Given the description of an element on the screen output the (x, y) to click on. 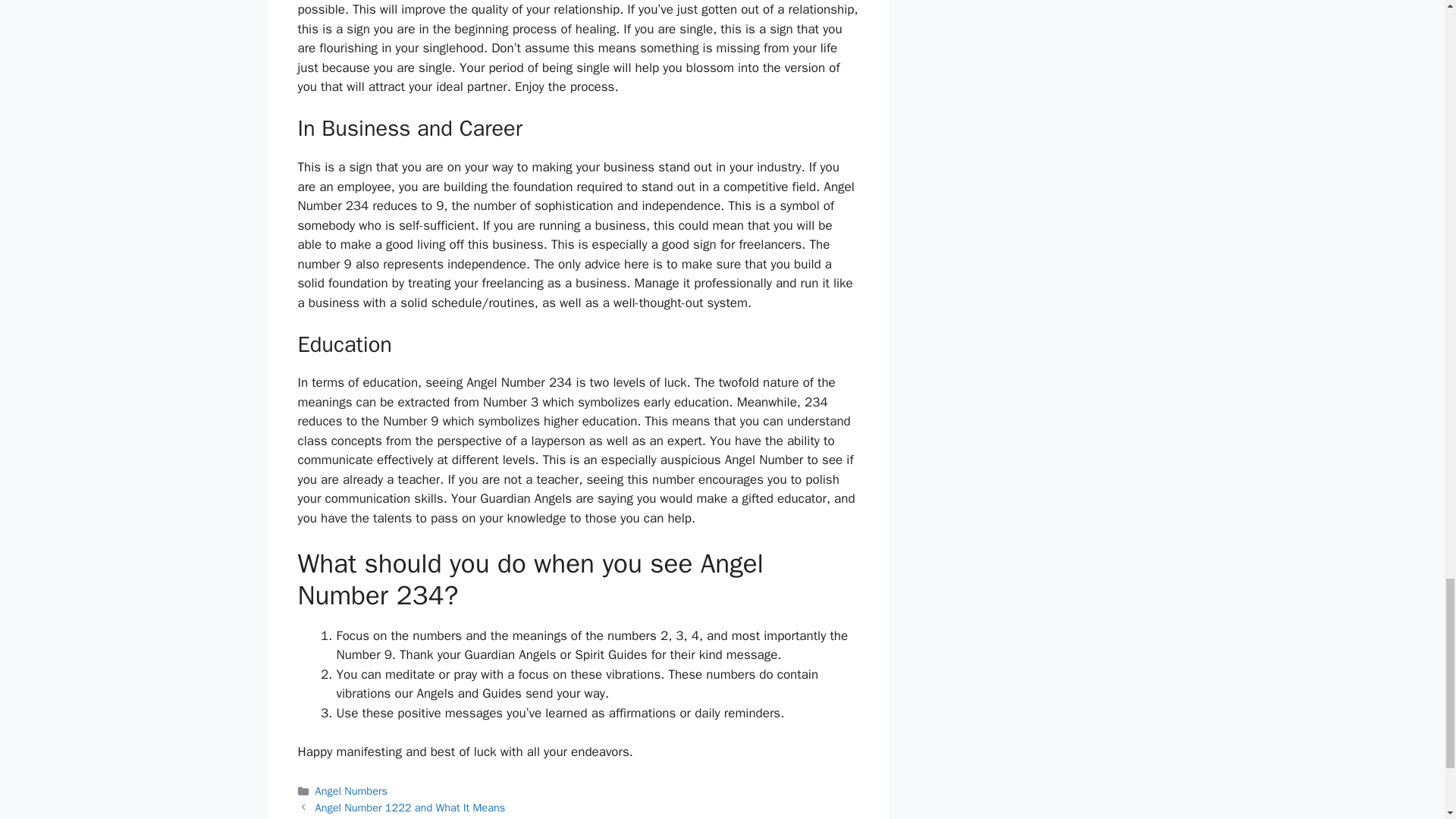
Angel Number 1222 and What It Means (410, 807)
Angel Numbers (351, 790)
